Given the description of an element on the screen output the (x, y) to click on. 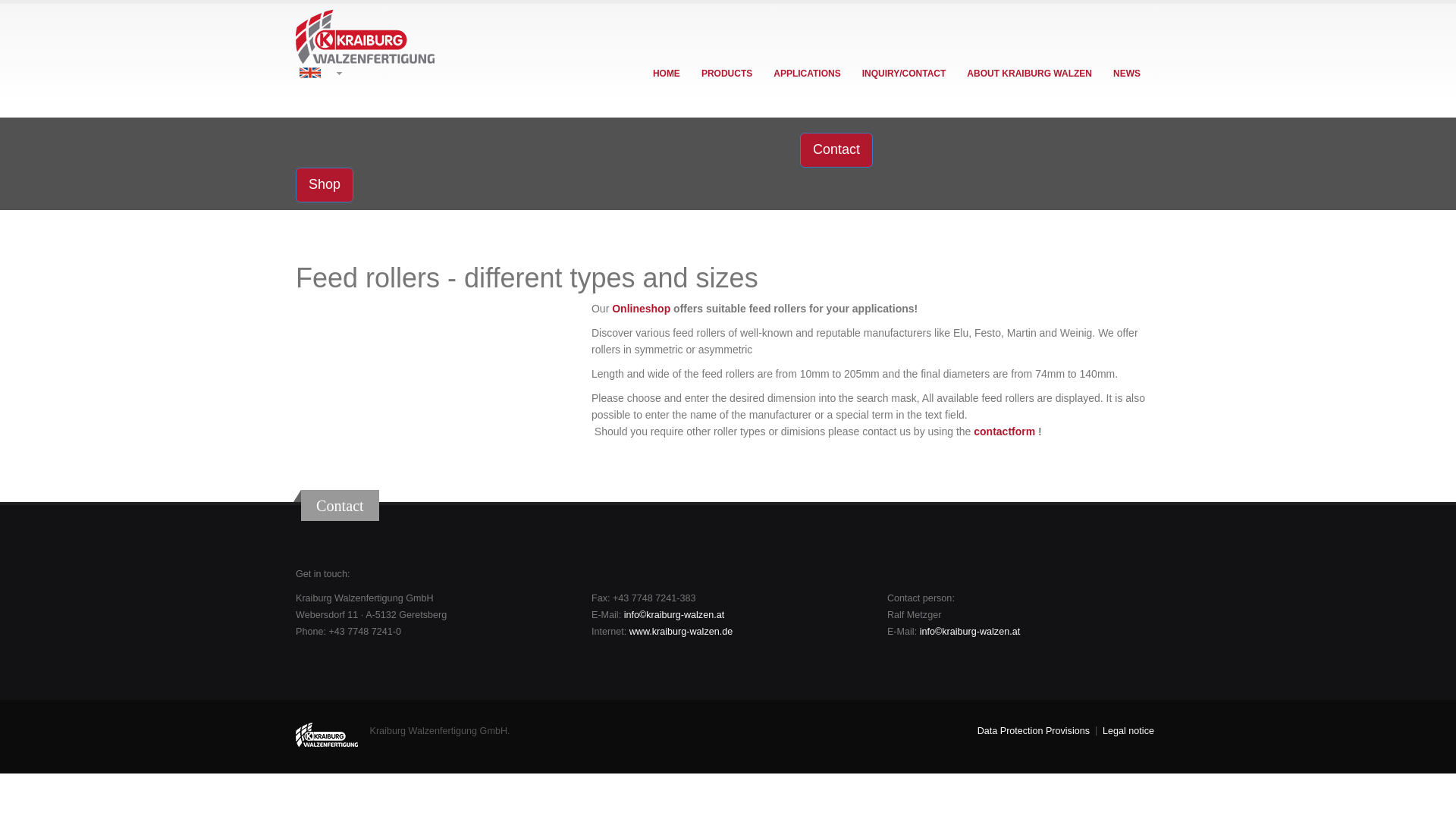
APPLICATIONS (806, 73)
bay rubber rollers, sleeves, cores online (324, 184)
Contact (835, 149)
Select your language (727, 72)
Shop (324, 184)
www.kraiburg-walzen.de (680, 631)
HOME (666, 73)
PRODUCTS (726, 73)
ABOUT KRAIBURG WALZEN (1029, 73)
contactform (1004, 431)
NEWS (1126, 73)
Onlineshop (640, 308)
